Given the description of an element on the screen output the (x, y) to click on. 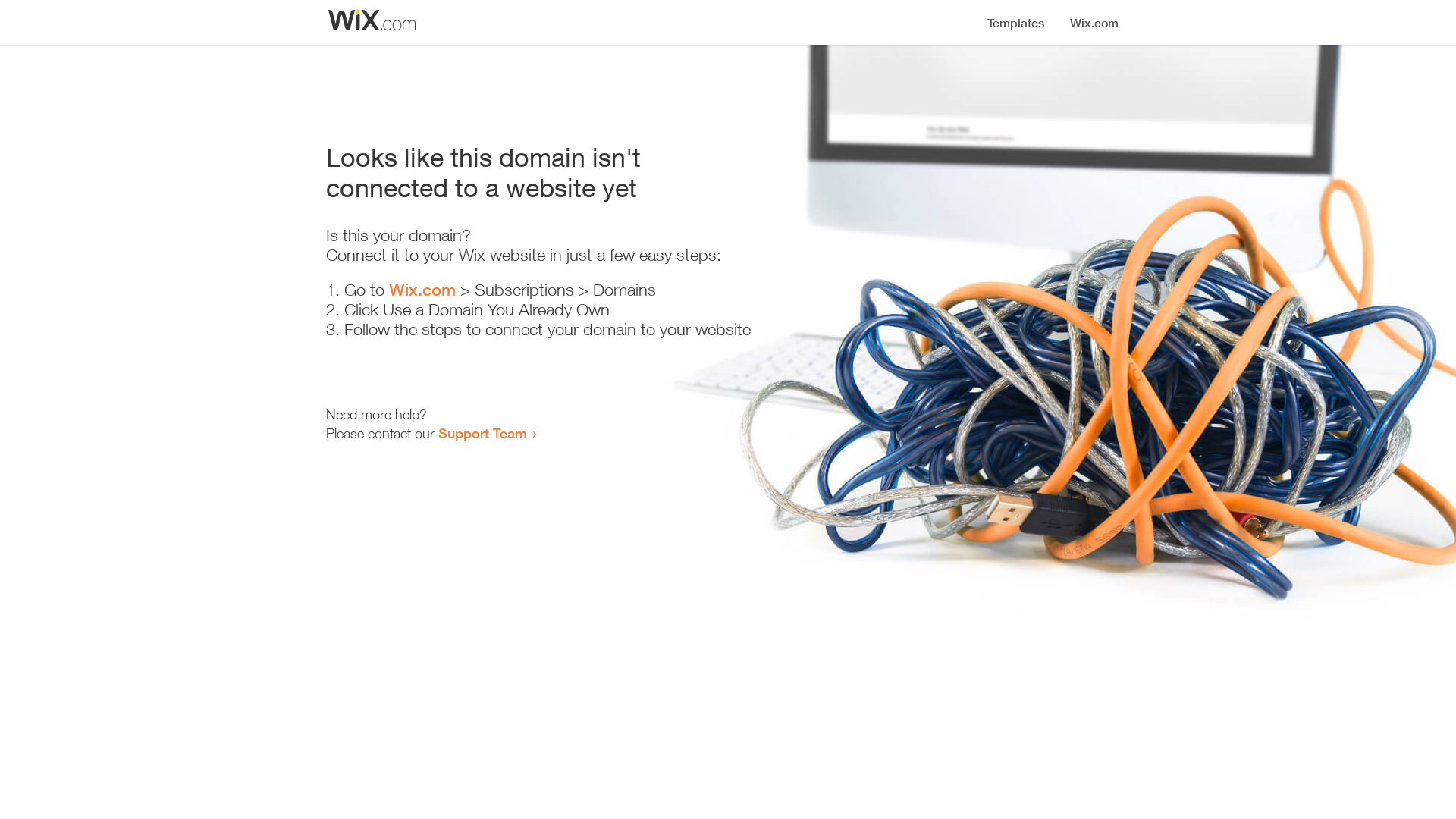
Wix.com Element type: text (422, 289)
Support Team Element type: text (482, 432)
